Given the description of an element on the screen output the (x, y) to click on. 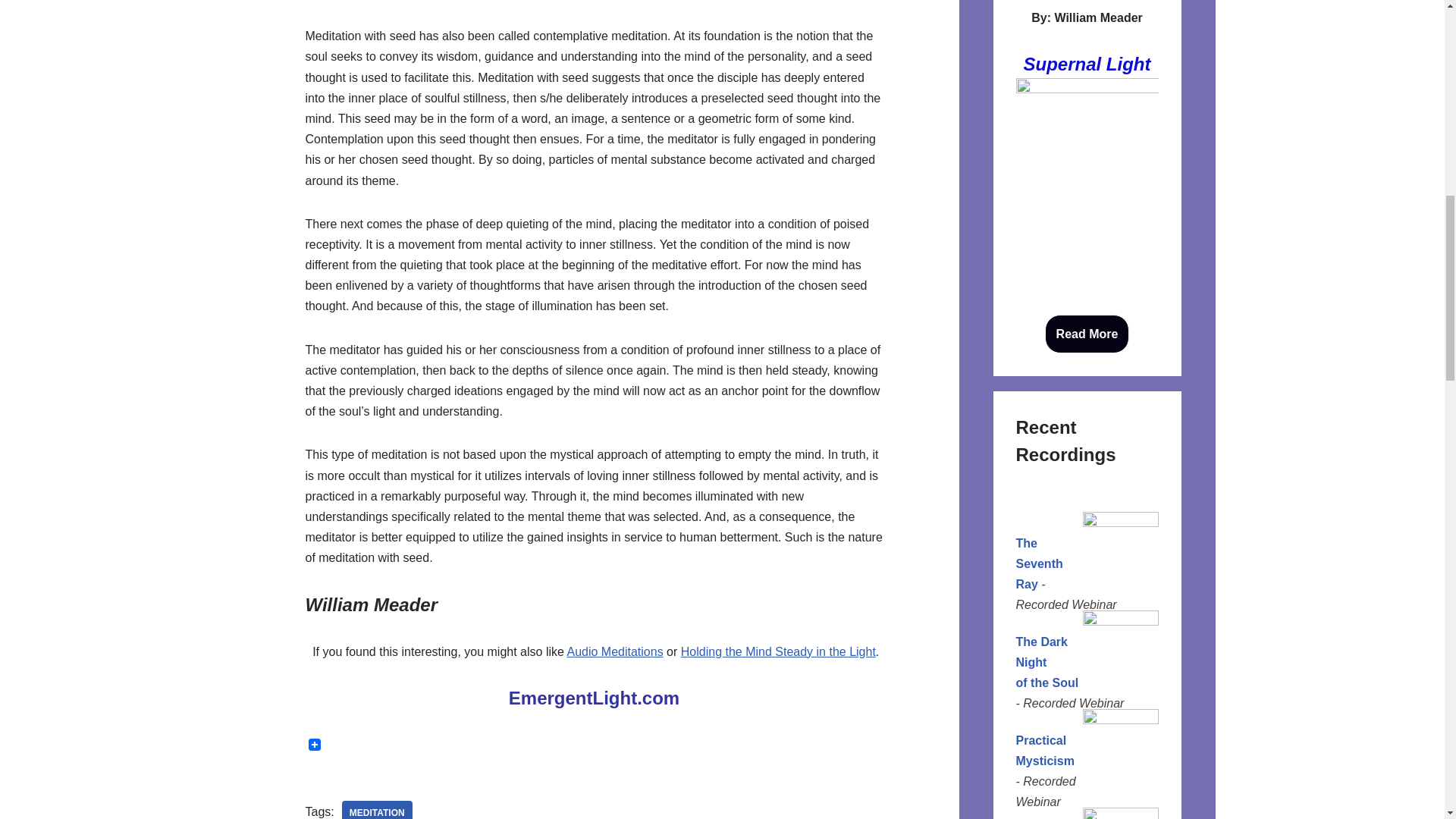
meditation (377, 809)
